Given the description of an element on the screen output the (x, y) to click on. 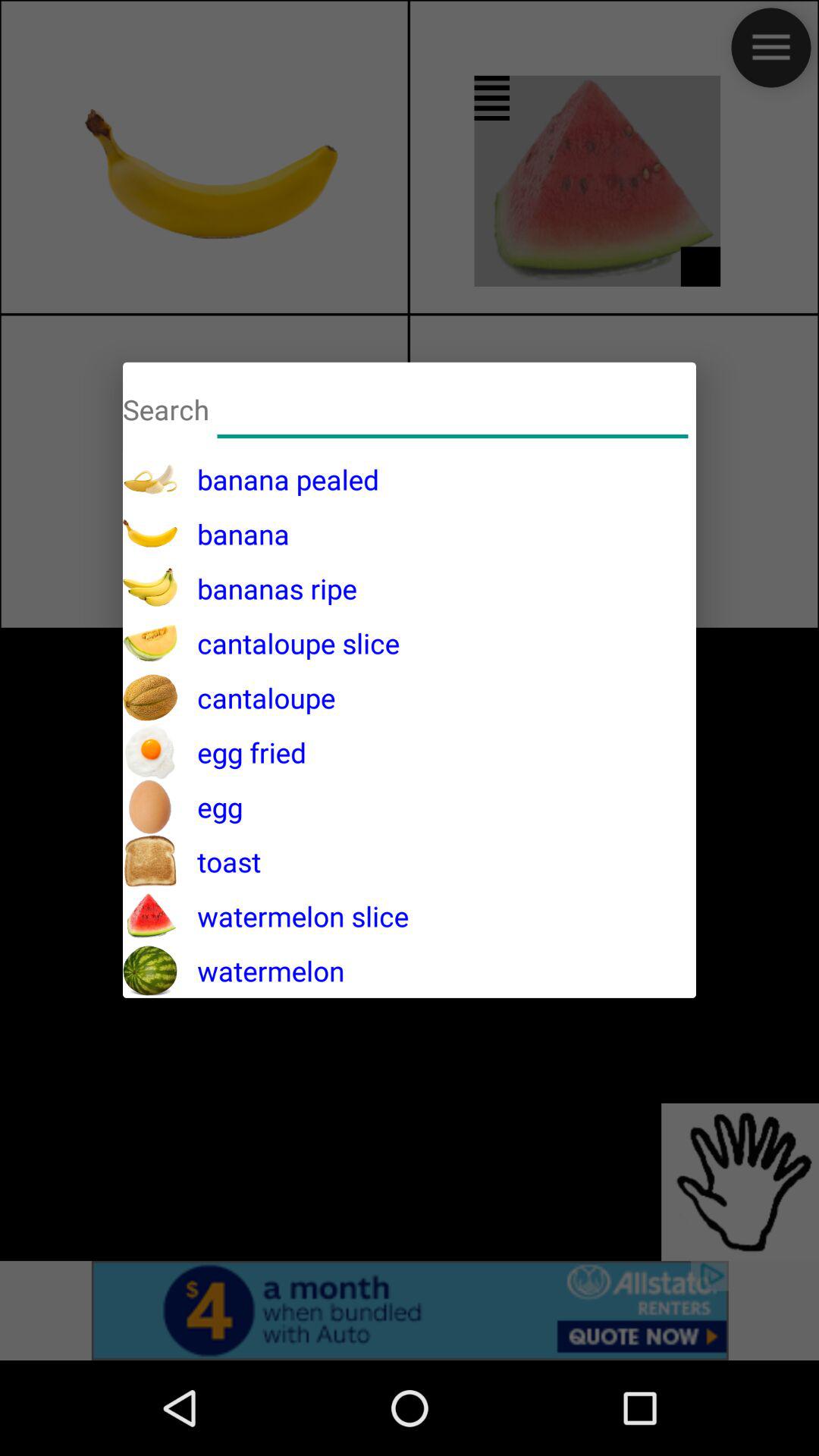
turn off the watermelon slice (292, 916)
